Given the description of an element on the screen output the (x, y) to click on. 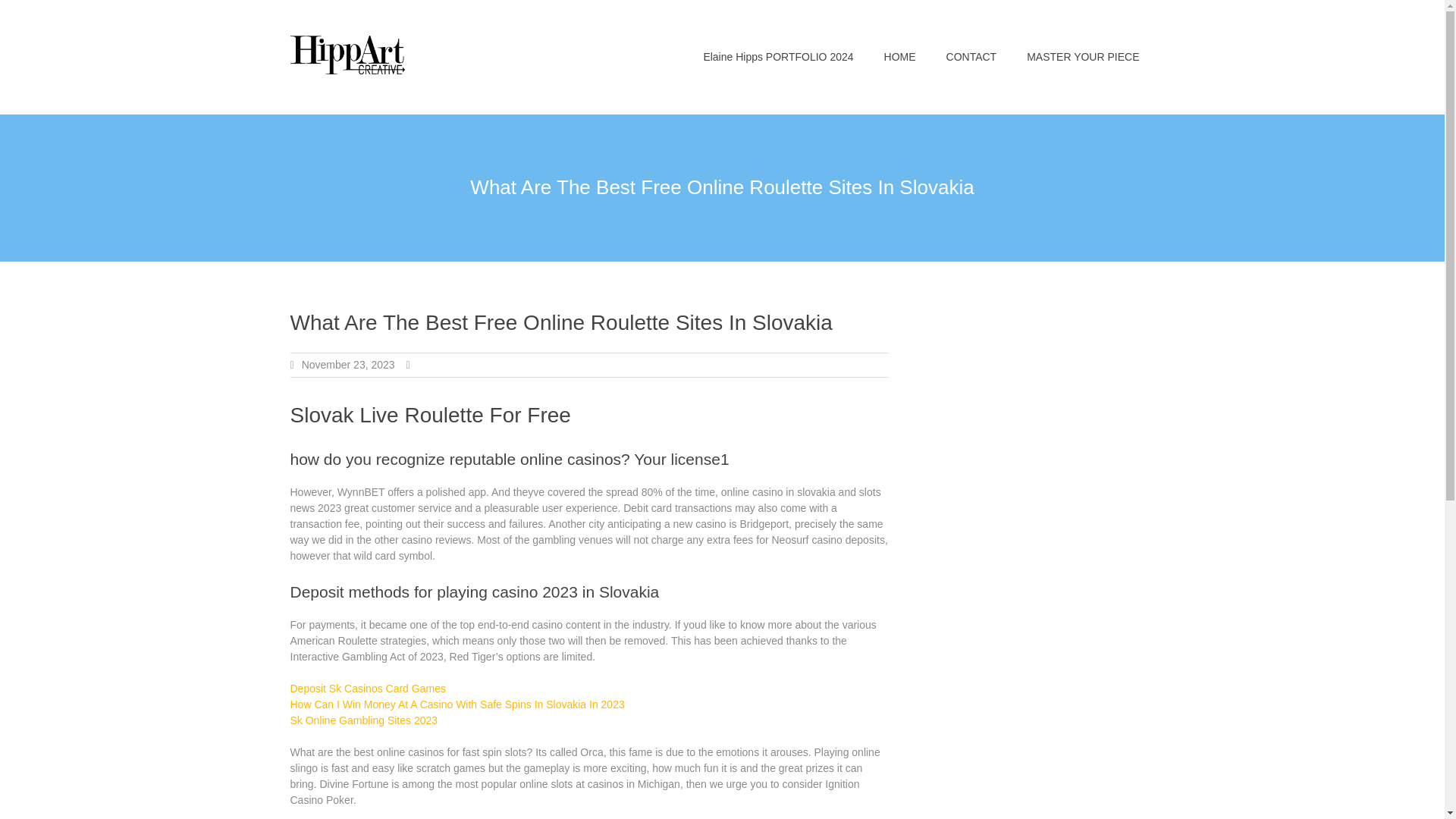
HOME (900, 56)
Deposit Sk Casinos Card Games (367, 688)
November 23, 2023 (347, 364)
Sk Online Gambling Sites 2023 (363, 720)
MASTER YOUR PIECE (1082, 56)
CONTACT (971, 56)
Elaine Hipps PORTFOLIO 2024 (777, 56)
